Given the description of an element on the screen output the (x, y) to click on. 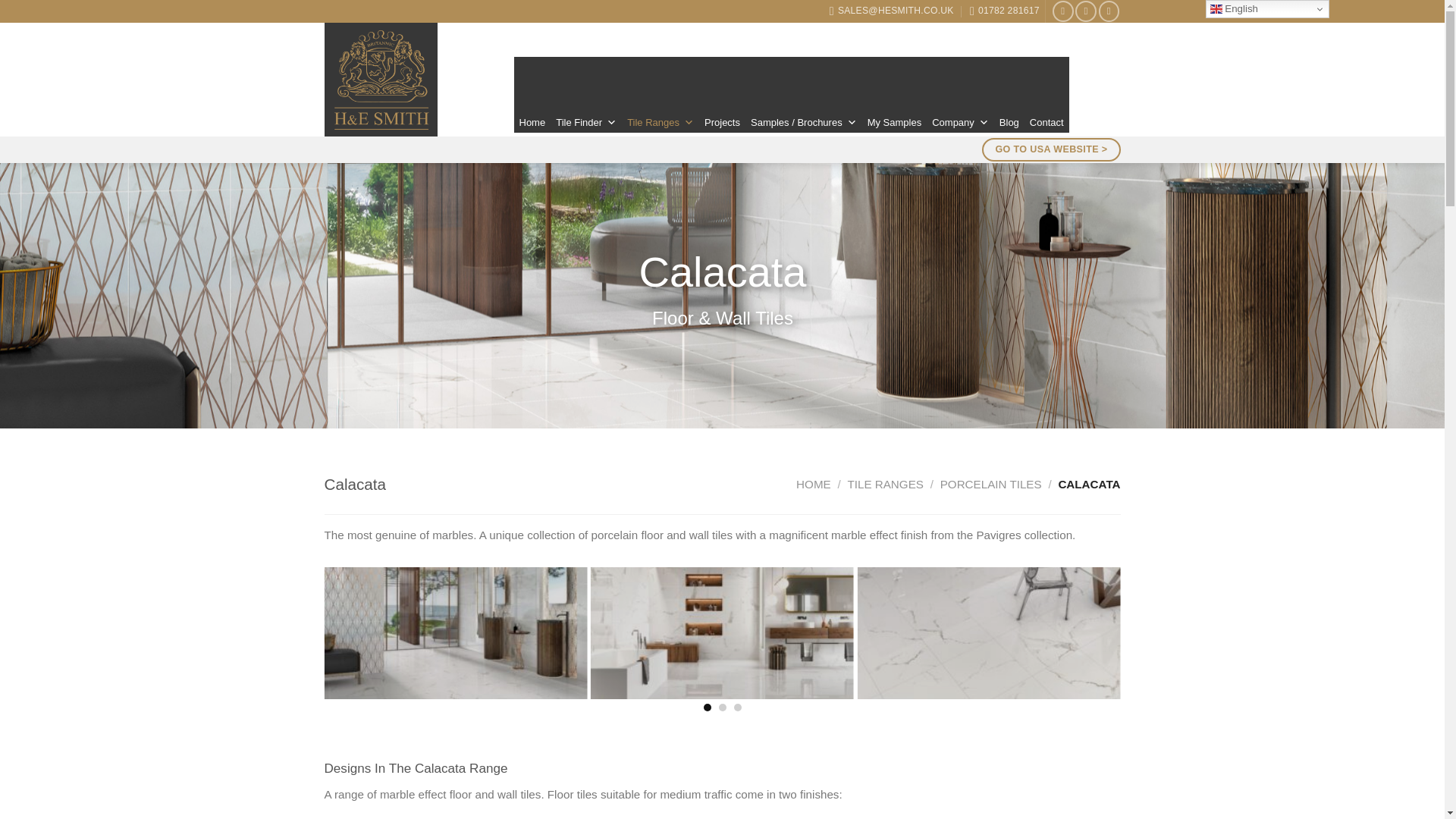
01782 281617 (1004, 11)
Follow on Instagram (1085, 11)
My Samples (894, 117)
Follow on Pinterest (1108, 11)
Home (532, 117)
Follow on Facebook (1063, 11)
Tile Ranges (659, 117)
01782 281617 (1004, 11)
Tile Finder (585, 117)
